Given the description of an element on the screen output the (x, y) to click on. 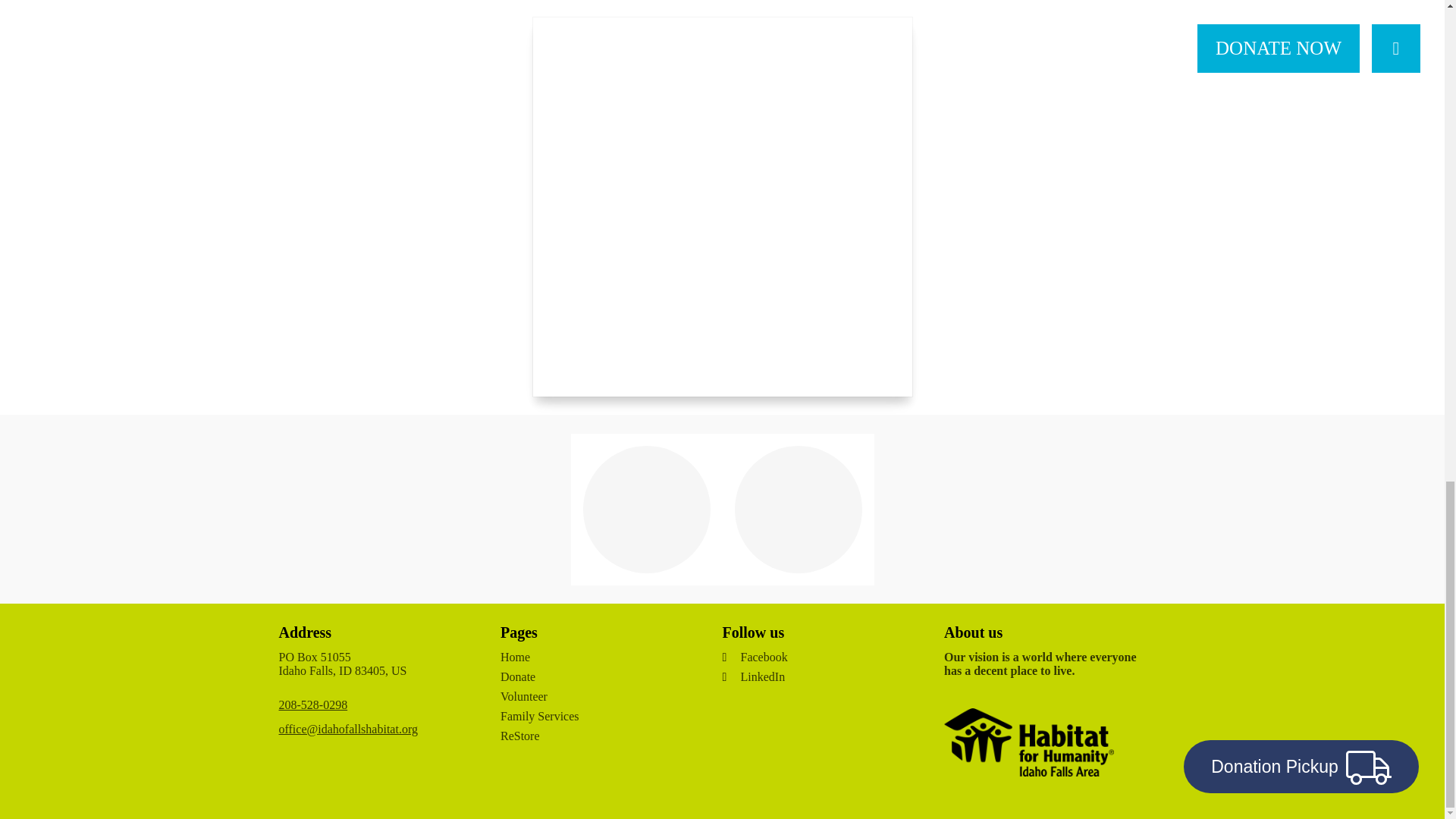
Home (596, 657)
Facebook (826, 657)
ReStore (596, 735)
208-528-0298 (313, 705)
Volunteer (596, 696)
Donate (596, 676)
Family Services (596, 716)
LinkedIn (826, 676)
